Given the description of an element on the screen output the (x, y) to click on. 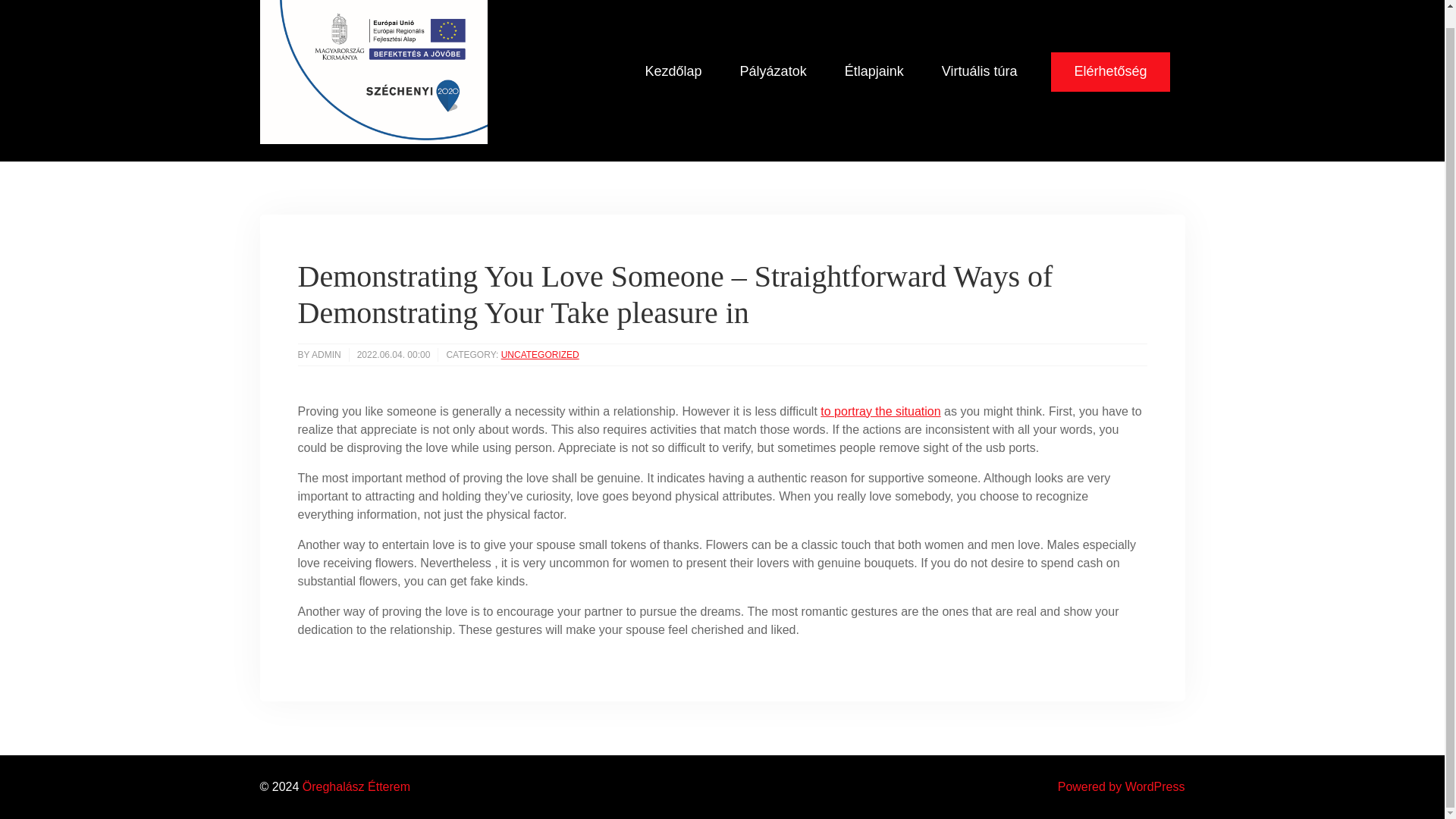
Powered by WordPress (1121, 786)
to portray the situation (880, 410)
UNCATEGORIZED (539, 354)
